Given the description of an element on the screen output the (x, y) to click on. 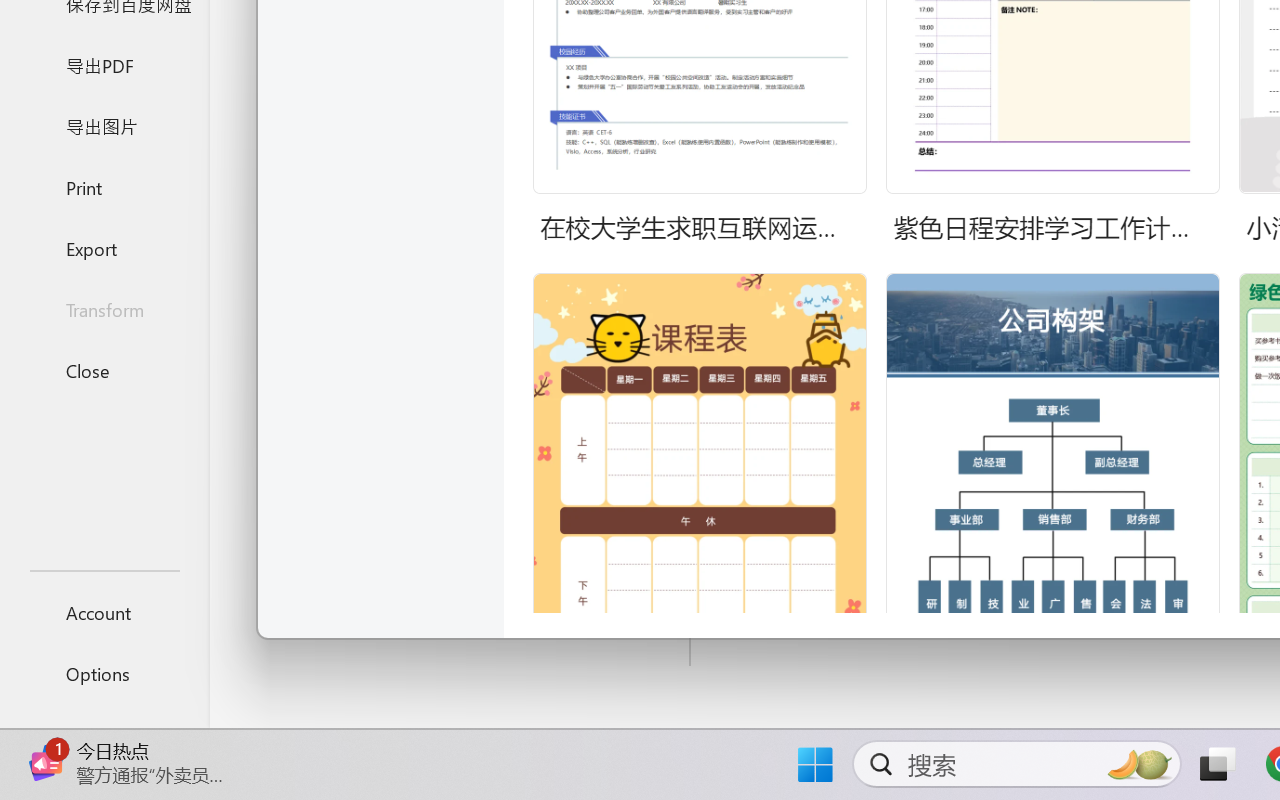
Print (104, 186)
Account (104, 612)
Transform (104, 309)
Options (104, 673)
Export (104, 248)
